Given the description of an element on the screen output the (x, y) to click on. 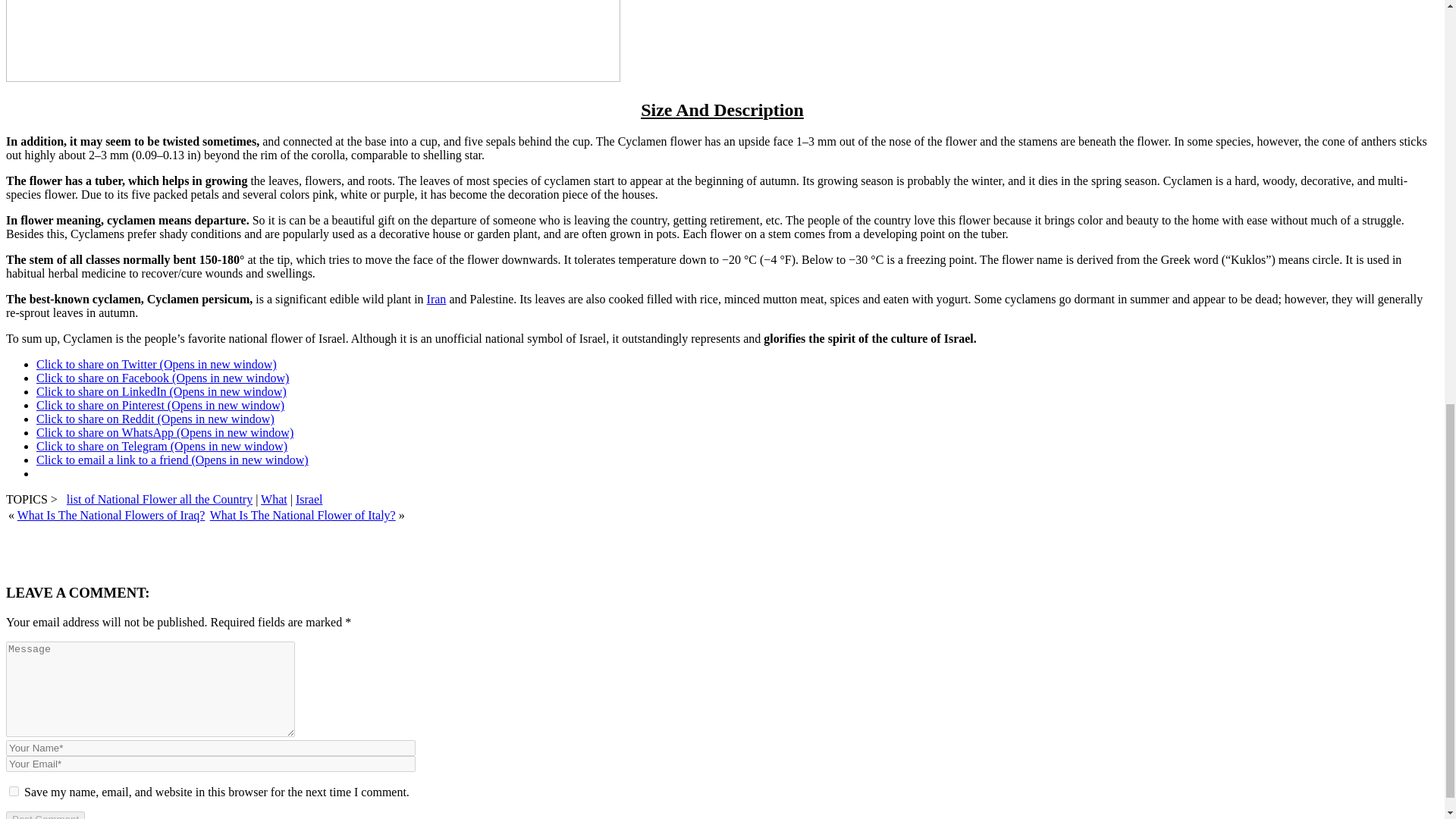
What Is The National Flower of Italy? (302, 514)
Click to share on Reddit (155, 418)
Post Comment (44, 815)
Click to share on LinkedIn (161, 391)
Iran (436, 298)
Click to share on Pinterest (159, 404)
What (273, 499)
Israel (309, 499)
What Is The National Flowers of Iraq? (111, 514)
yes (13, 791)
list of National Flower all the Country (158, 499)
Click to share on Twitter (156, 364)
Post Comment (44, 815)
Click to email a link to a friend (172, 459)
Click to share on Telegram (161, 445)
